Given the description of an element on the screen output the (x, y) to click on. 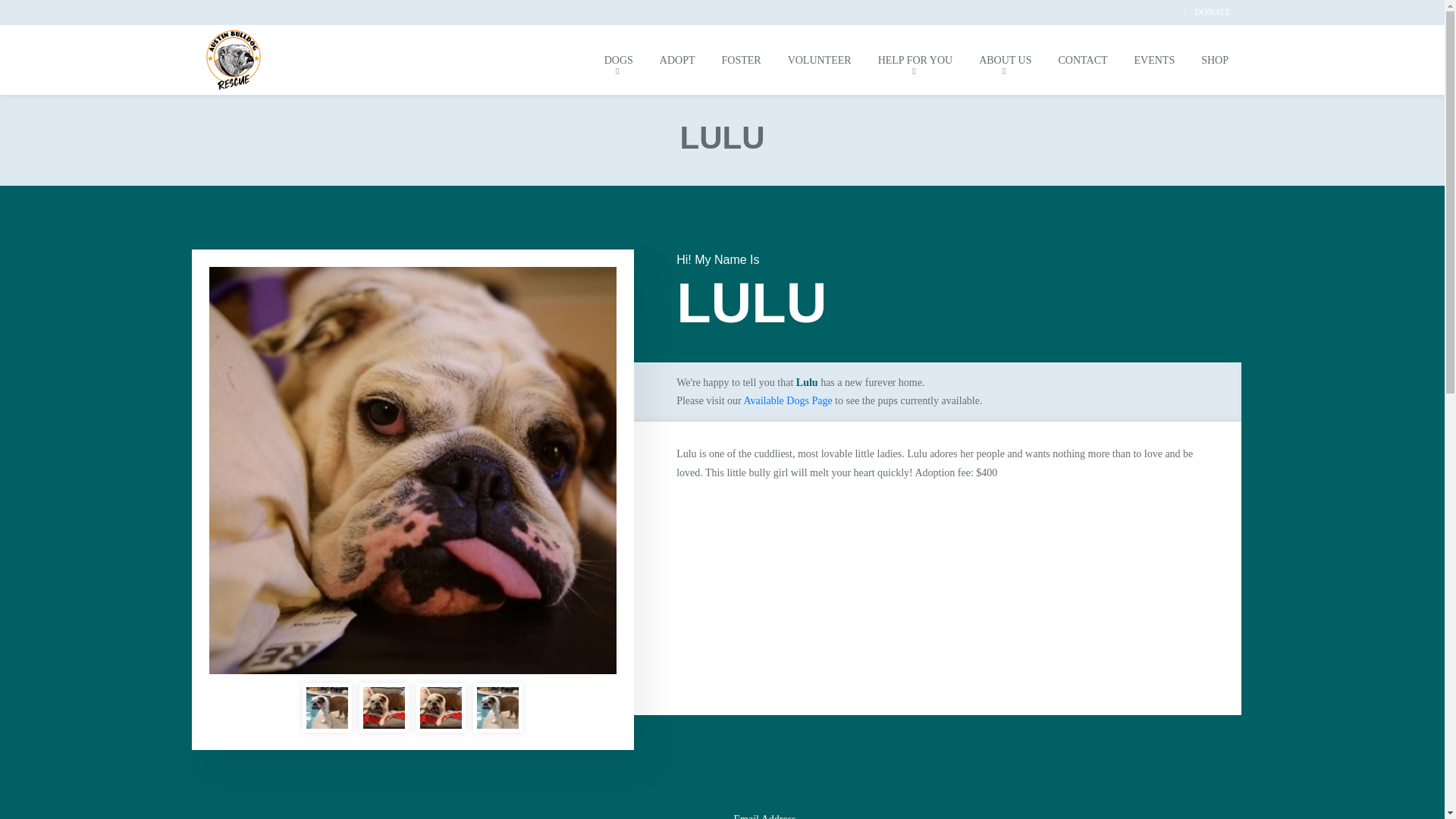
EVENTS (1154, 59)
HELP FOR YOU (915, 59)
Lulu (497, 707)
Lulu (326, 707)
Available Dogs Page (786, 400)
ADOPT (676, 59)
Lulu (440, 707)
SHOP (1214, 59)
Austin Bulldog Rescue (233, 59)
ABOUT US (1005, 59)
DONATE (1207, 12)
FOSTER (740, 59)
CONTACT (1083, 59)
DOGS (618, 59)
Lulu (383, 707)
